Given the description of an element on the screen output the (x, y) to click on. 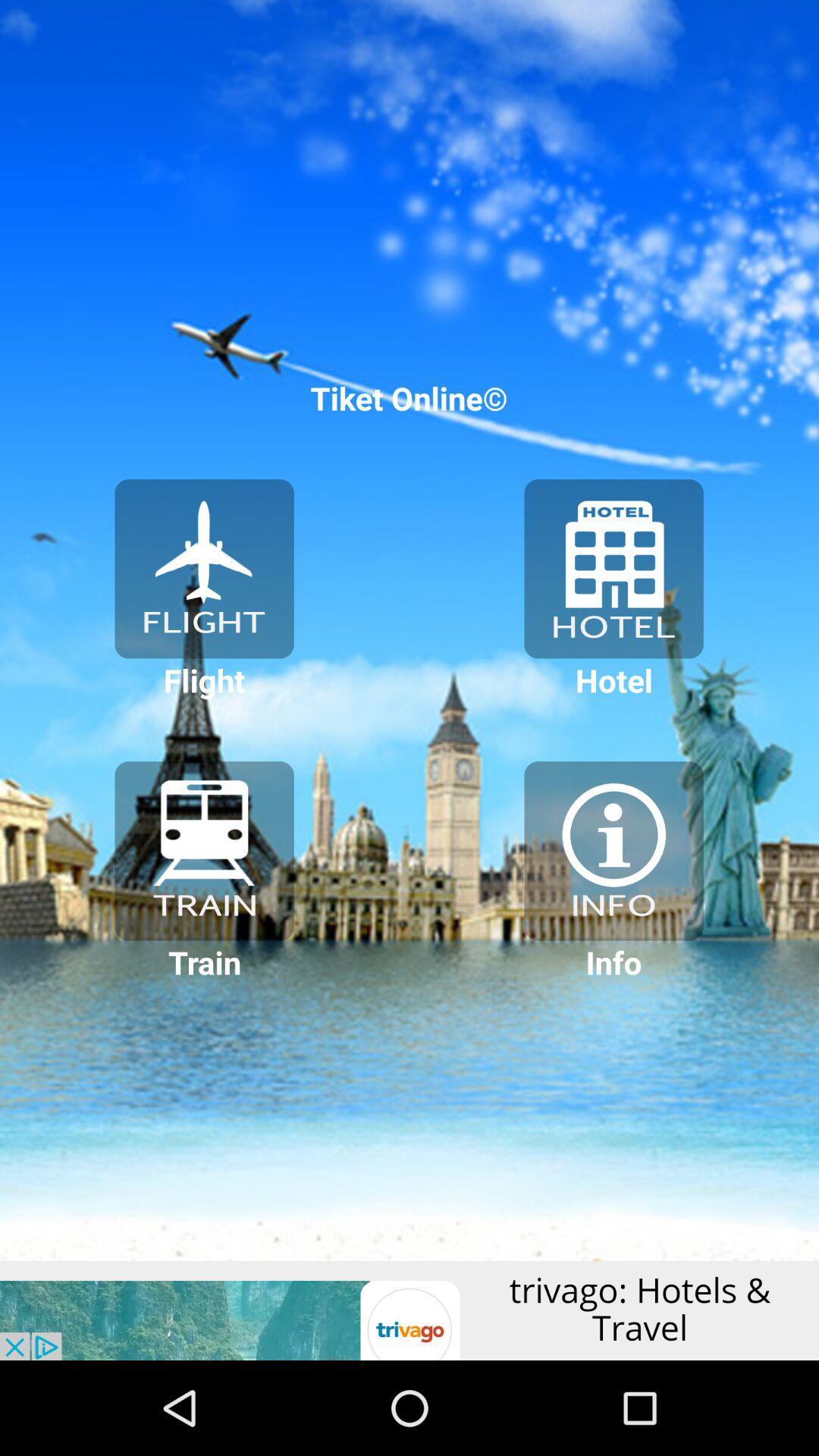
click the advertisement (409, 1310)
